Given the description of an element on the screen output the (x, y) to click on. 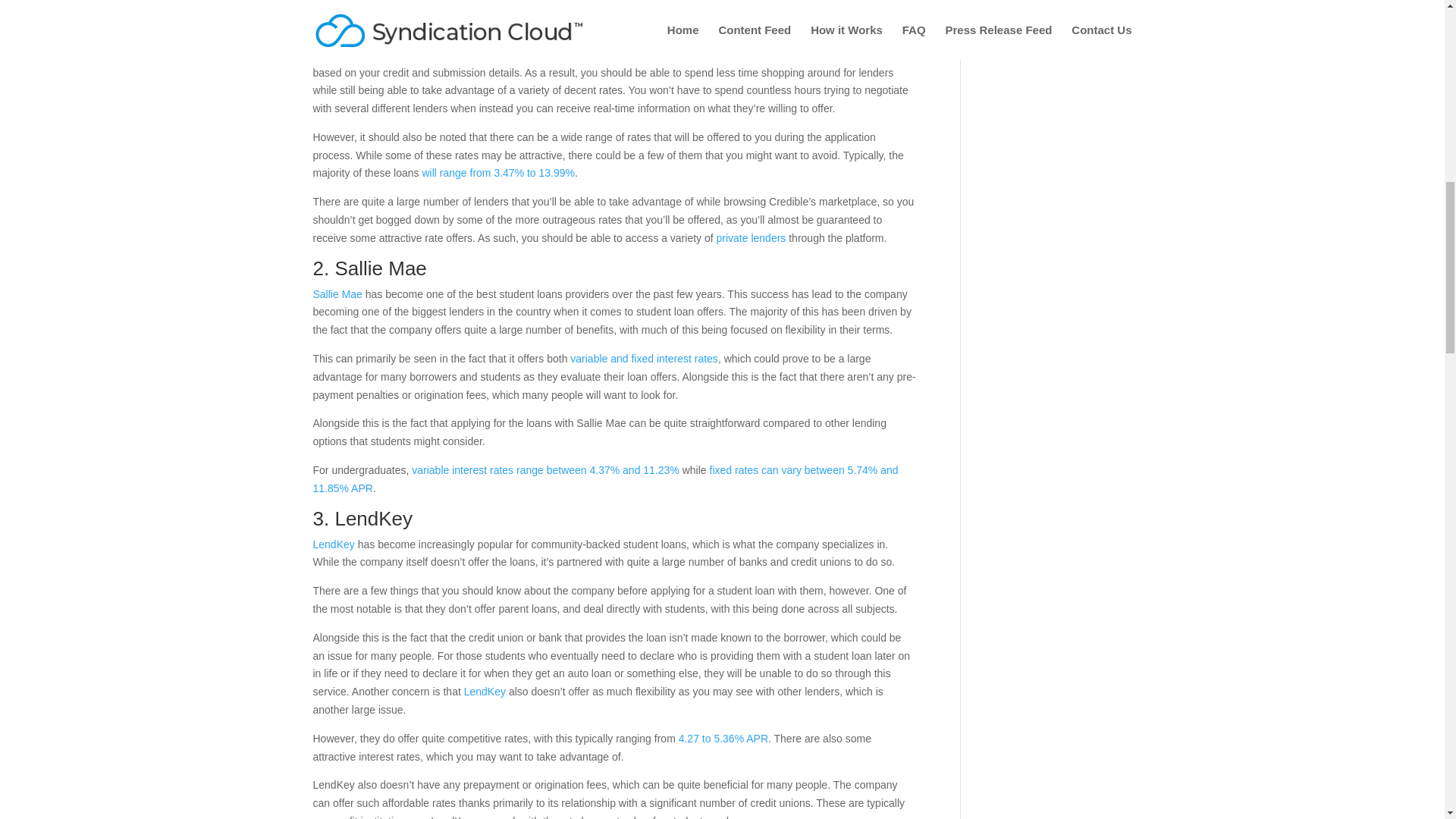
LendKey (373, 517)
Sallie Mae (380, 268)
LendKey (333, 544)
Sallie Mae (337, 294)
private lenders (751, 237)
host of benefits (438, 36)
LendKey (484, 691)
variable and fixed interest rates (643, 358)
